Given the description of an element on the screen output the (x, y) to click on. 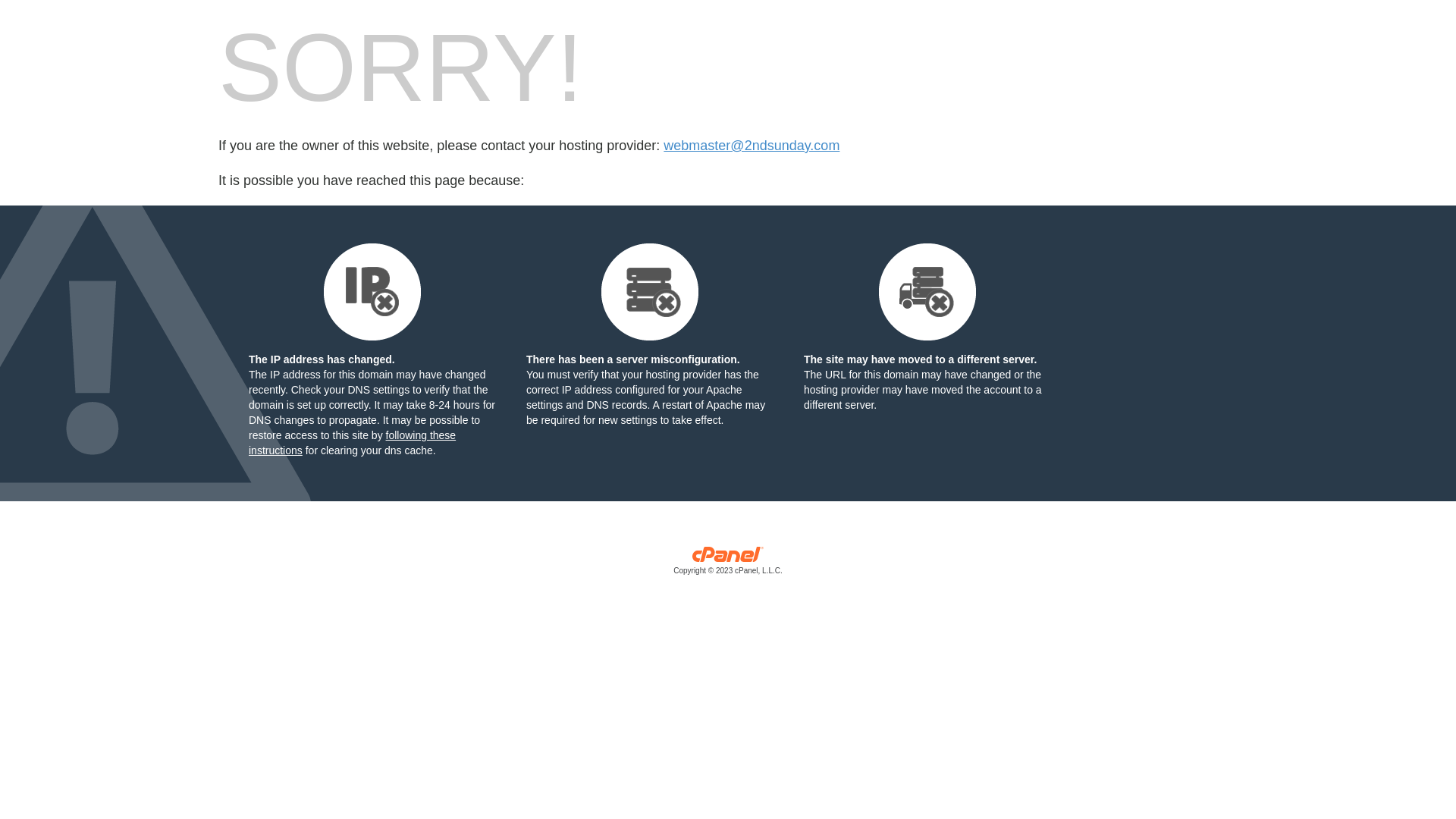
webmaster@2ndsunday.com Element type: text (751, 145)
following these instructions Element type: text (351, 442)
